Given the description of an element on the screen output the (x, y) to click on. 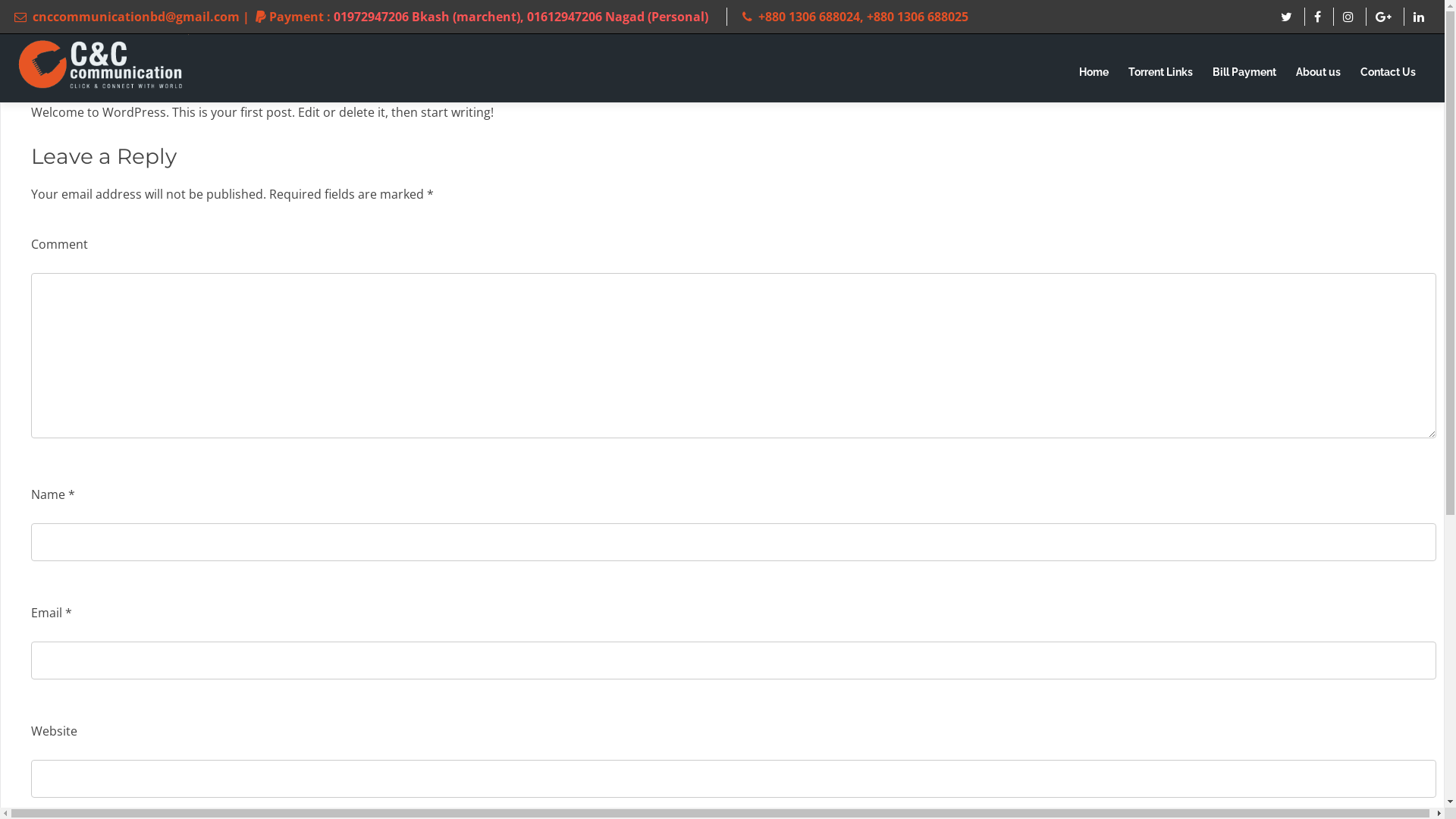
Bill Payment Element type: text (1244, 71)
Contact Us Element type: text (1387, 71)
Torrent Links Element type: text (1160, 71)
About us Element type: text (1317, 71)
cnccommunicationbd@gmail.com Element type: text (135, 16)
Home Element type: text (1093, 71)
